Given the description of an element on the screen output the (x, y) to click on. 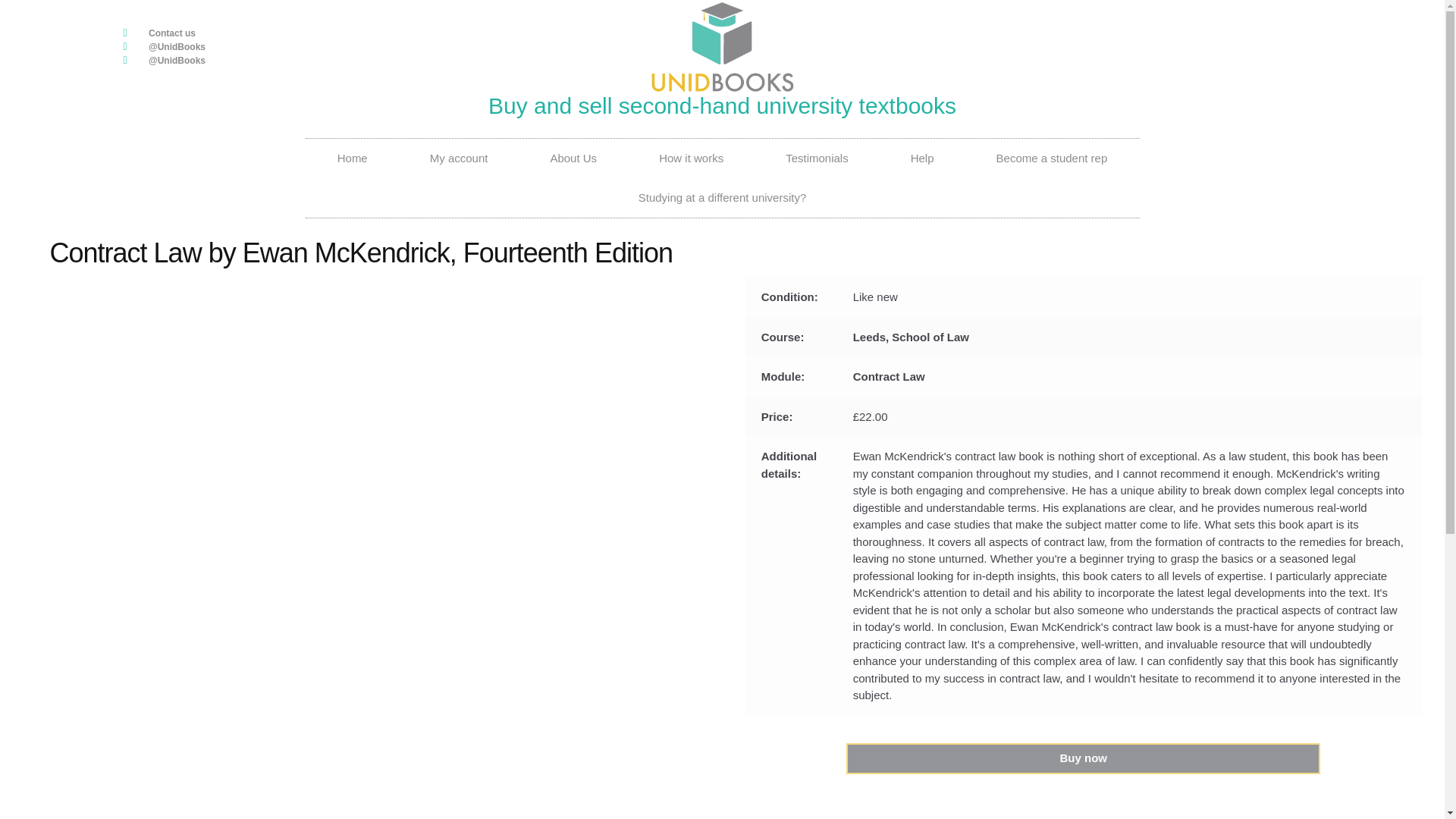
Contact us (317, 33)
Become a student rep (1051, 158)
Buy now (1082, 757)
My account (458, 158)
Home (351, 158)
Studying at a different university? (722, 197)
Contract Law (888, 376)
How it works (690, 158)
About Us (572, 158)
Leeds, School of Law (911, 336)
